Given the description of an element on the screen output the (x, y) to click on. 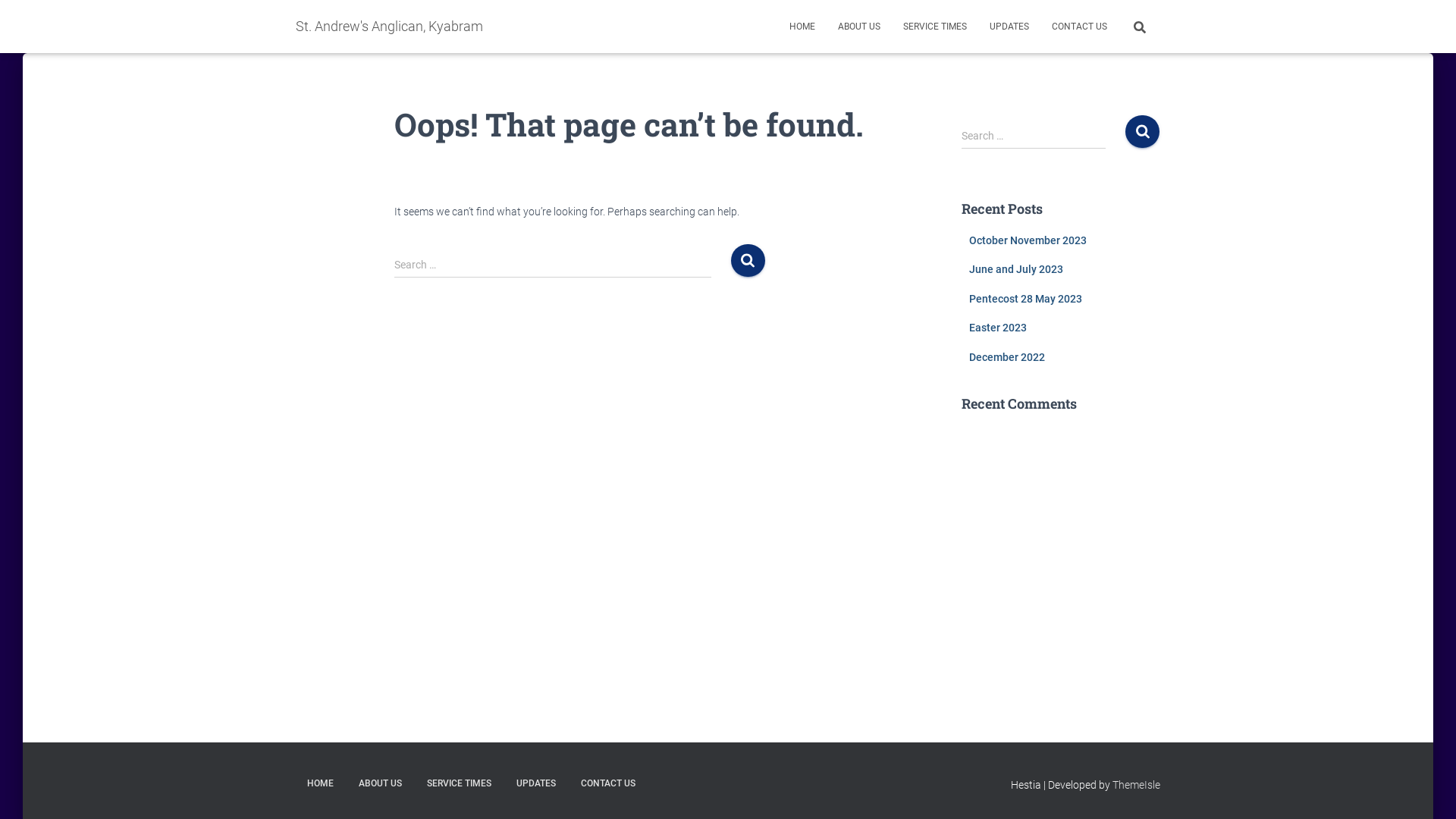
CONTACT US Element type: text (1079, 26)
Search Element type: text (1142, 131)
October November 2023 Element type: text (1027, 240)
St. Andrew's Anglican, Kyabram Element type: text (389, 26)
SERVICE TIMES Element type: text (934, 26)
Pentecost 28 May 2023 Element type: text (1025, 298)
ThemeIsle Element type: text (1136, 784)
CONTACT US Element type: text (607, 783)
June and July 2023 Element type: text (1016, 269)
HOME Element type: text (802, 26)
SERVICE TIMES Element type: text (458, 783)
Easter 2023 Element type: text (997, 327)
Search Element type: text (748, 260)
ABOUT US Element type: text (380, 783)
ABOUT US Element type: text (858, 26)
HOME Element type: text (320, 783)
UPDATES Element type: text (536, 783)
UPDATES Element type: text (1009, 26)
December 2022 Element type: text (1006, 357)
Search Element type: text (3, 16)
